Given the description of an element on the screen output the (x, y) to click on. 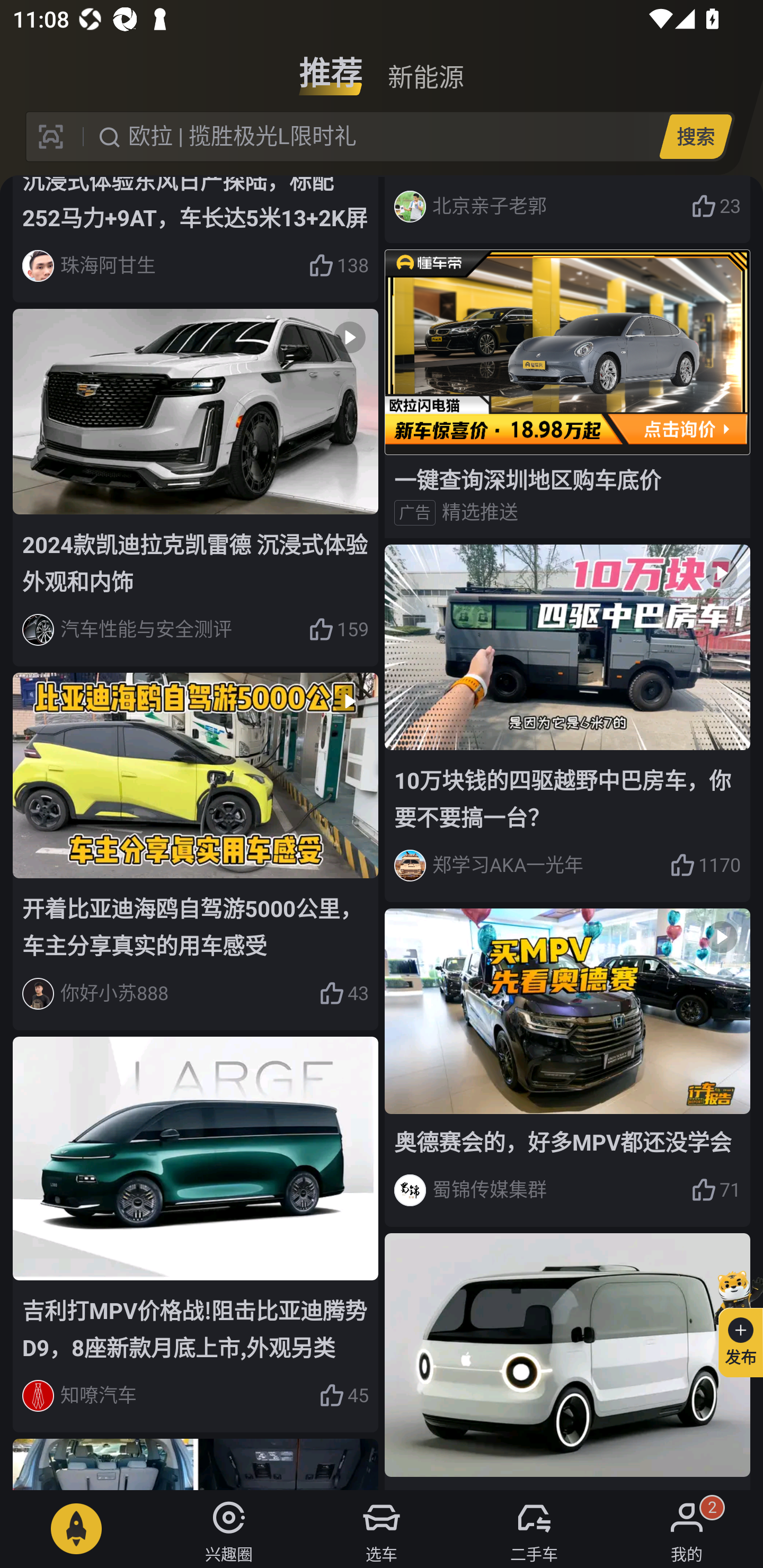
推荐 (330, 65)
新能源 (425, 65)
搜索 (695, 136)
沉浸式体验东风日产探陆，标配252马力+9AT，车长达5米13+2K屏 珠海阿甘生 138 (195, 239)
北京亲子老郭 23 (567, 210)
23 (715, 206)
138 (338, 265)
一键查询深圳地区购车底价 广告 精选推送 (567, 393)
 2024款凯迪拉克凯雷德 沉浸式体验外观和内饰 汽车性能与安全测评 159 (195, 487)
 10万块钱的四驱越野中巴房车，你要不要搞一台？ 郑学习AKA一光年 1170 (567, 722)
159 (338, 629)
 开着比亚迪海鸥自驾游5000公里，车主分享真实的用车感受 你好小苏888 43 (195, 851)
1170 (704, 865)
 奥德赛会的，好多MPV都还没学会 蜀锦传媒集群 71 (567, 1066)
43 (343, 993)
吉利打MPV价格战!阻击比亚迪腾势D9，8座新款月底上市,外观另类 知嘹汽车 45 (195, 1234)
71 (715, 1189)
苹果原型车曝光：外形酷似K-Car，若乔布斯还在会坚持量产吗？ (567, 1360)
发布 (732, 1321)
45 (343, 1395)
 兴趣圈 (228, 1528)
 选车 (381, 1528)
 二手车 (533, 1528)
 我的 (686, 1528)
